Given the description of an element on the screen output the (x, y) to click on. 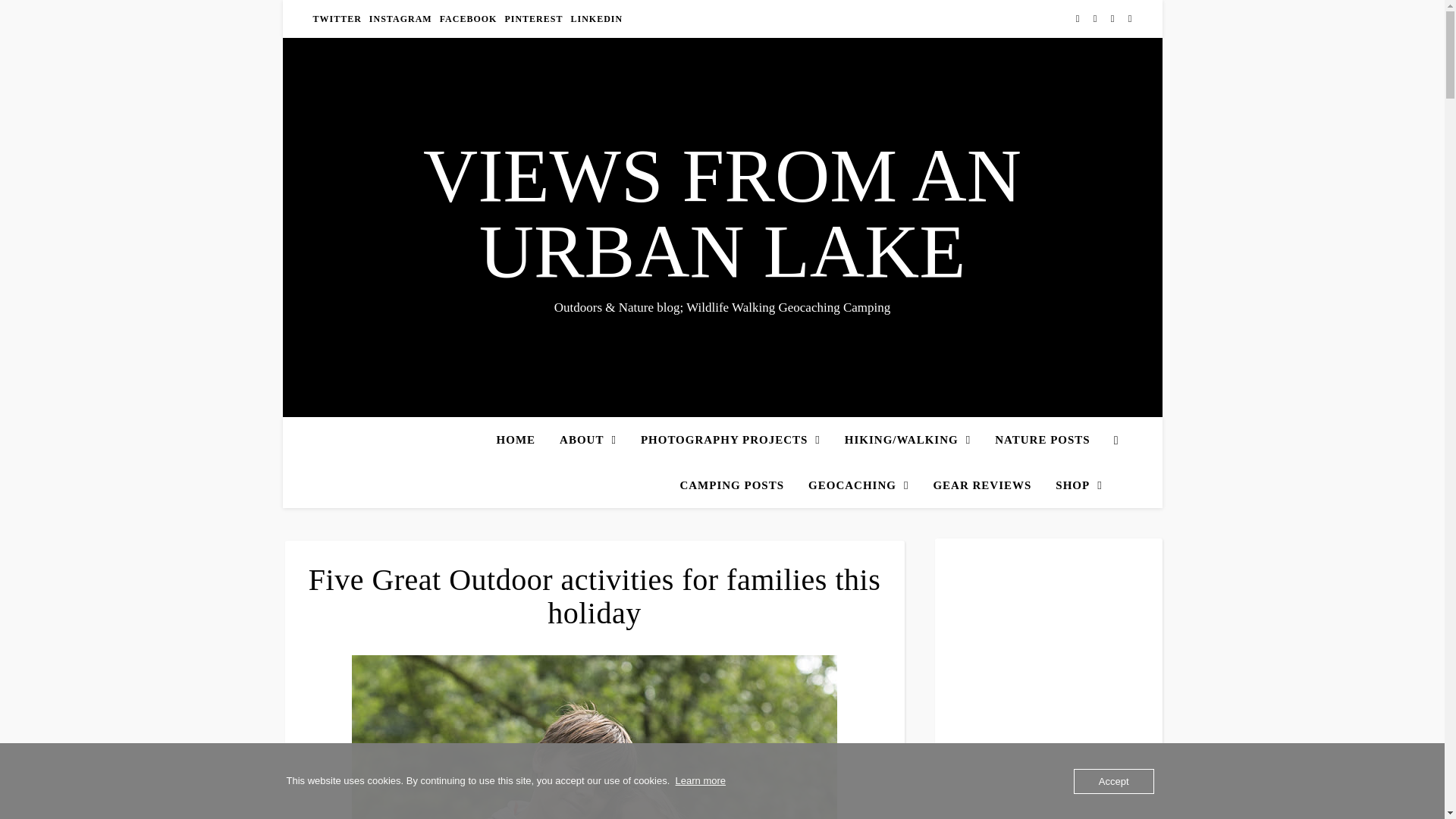
FACEBOOK (467, 18)
ABOUT (587, 439)
PINTEREST (533, 18)
VIEWS FROM AN URBAN LAKE (721, 213)
TWITTER (339, 18)
HOME (522, 439)
GEAR REVIEWS (981, 484)
CAMPING POSTS (731, 484)
INSTAGRAM (400, 18)
SHOP (1072, 484)
